Given the description of an element on the screen output the (x, y) to click on. 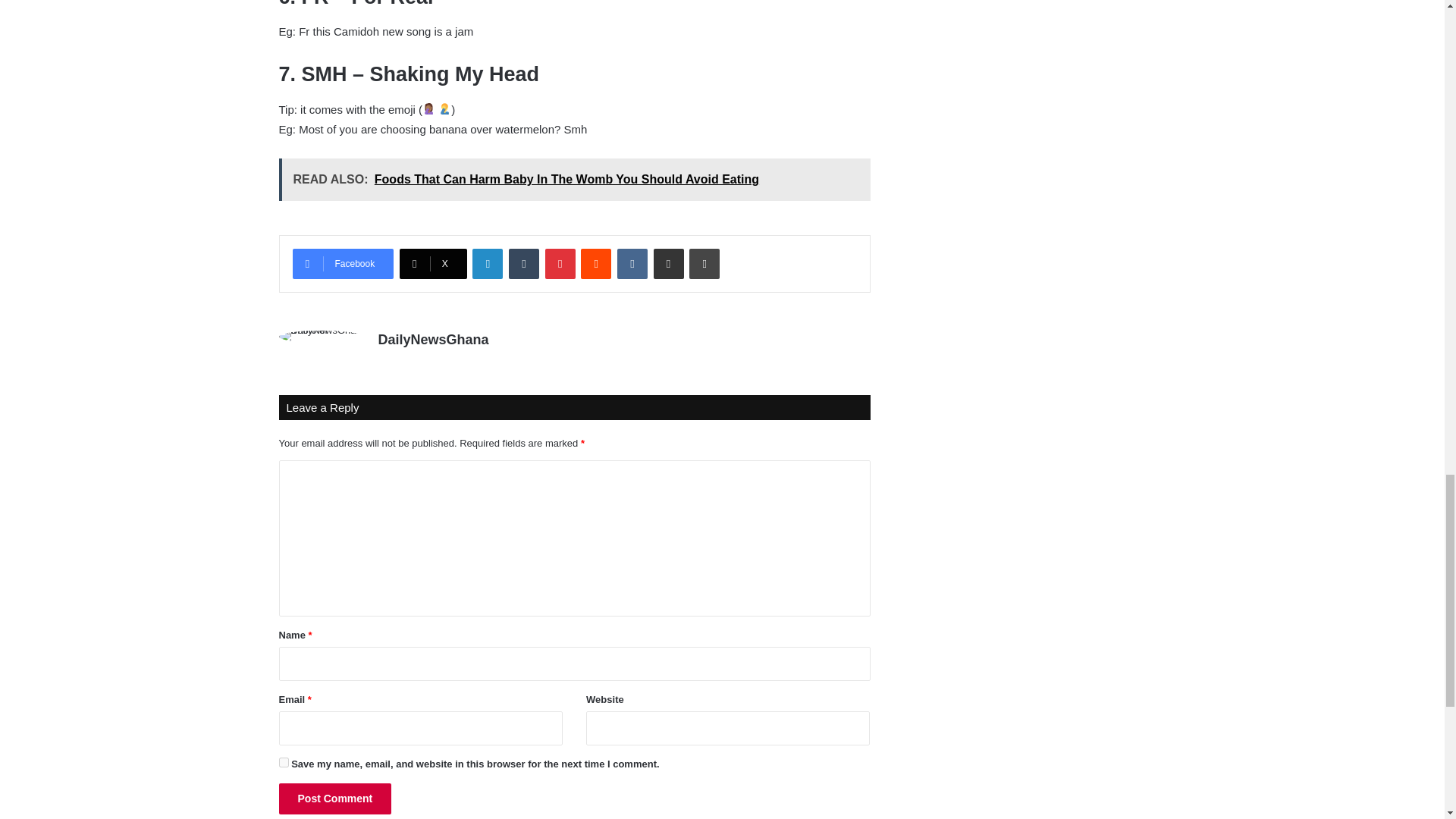
yes (283, 762)
Reddit (595, 263)
Tumblr (523, 263)
Facebook (343, 263)
Pinterest (559, 263)
Post Comment (335, 798)
LinkedIn (486, 263)
Facebook (343, 263)
X (432, 263)
